Given the description of an element on the screen output the (x, y) to click on. 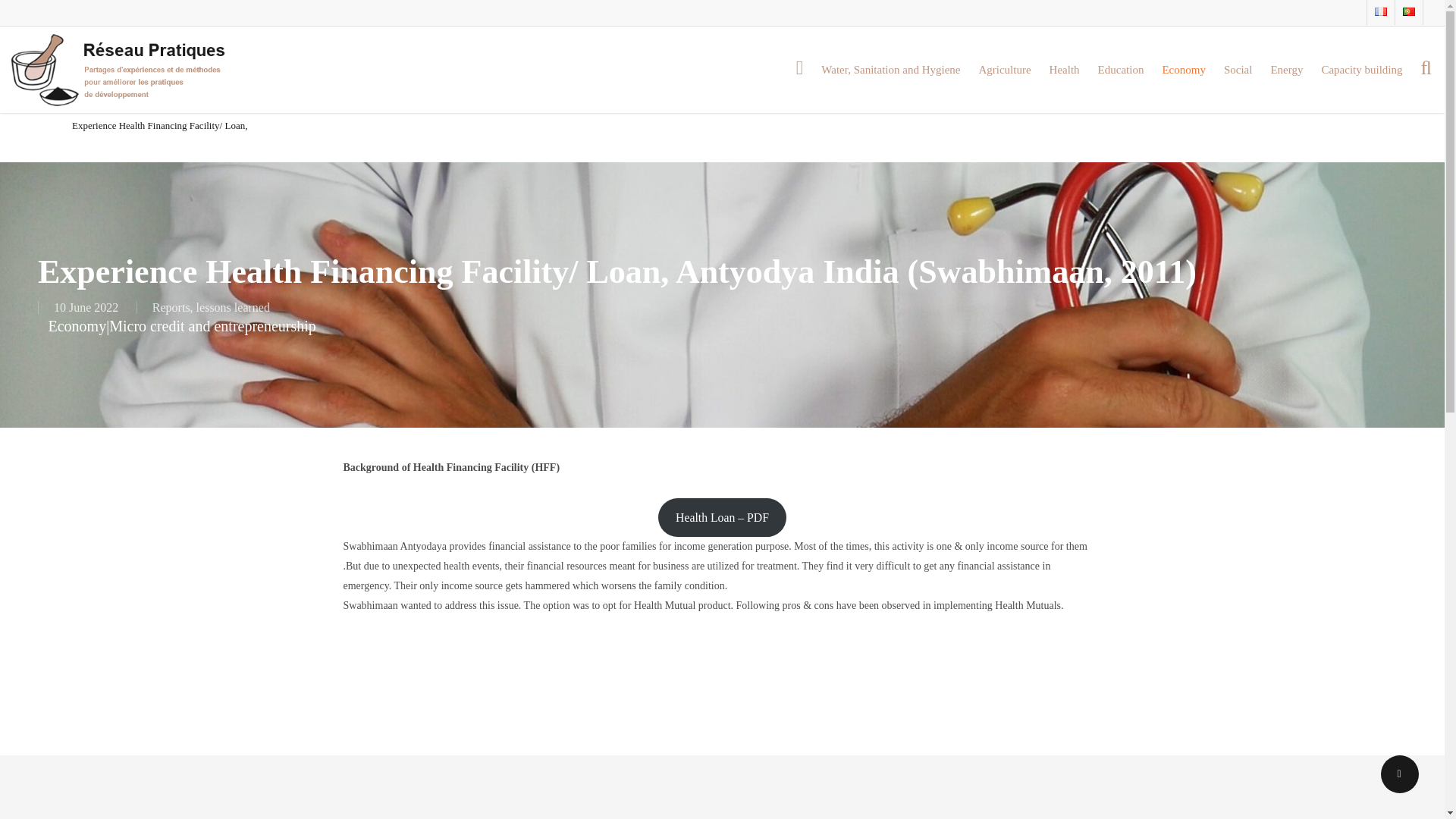
Health (1065, 69)
Education (1121, 69)
Agriculture (1004, 69)
Water, Sanitation and Hygiene (890, 69)
